Given the description of an element on the screen output the (x, y) to click on. 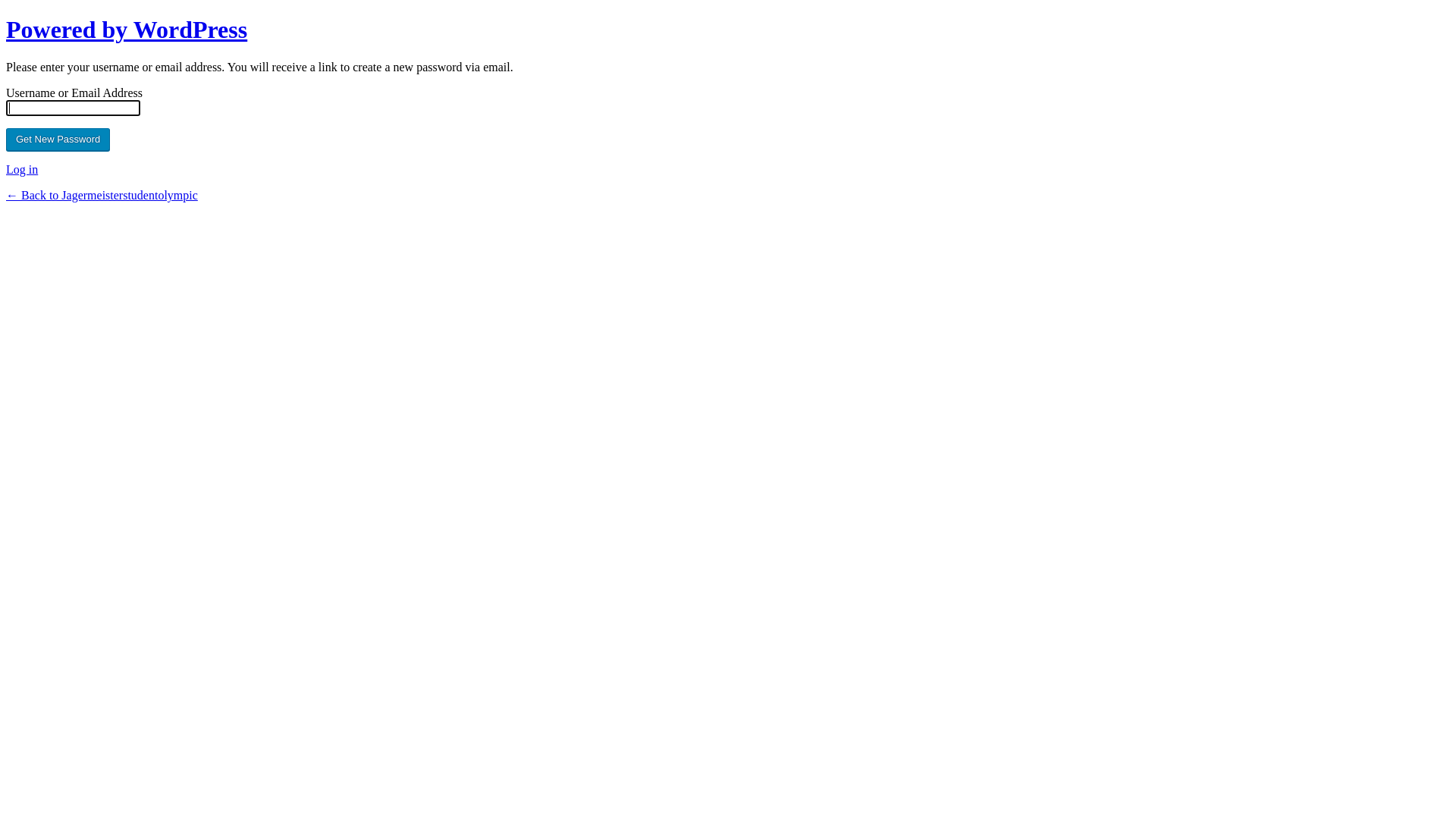
Powered by WordPress Element type: text (126, 29)
Get New Password Element type: text (57, 139)
Log in Element type: text (21, 169)
